Given the description of an element on the screen output the (x, y) to click on. 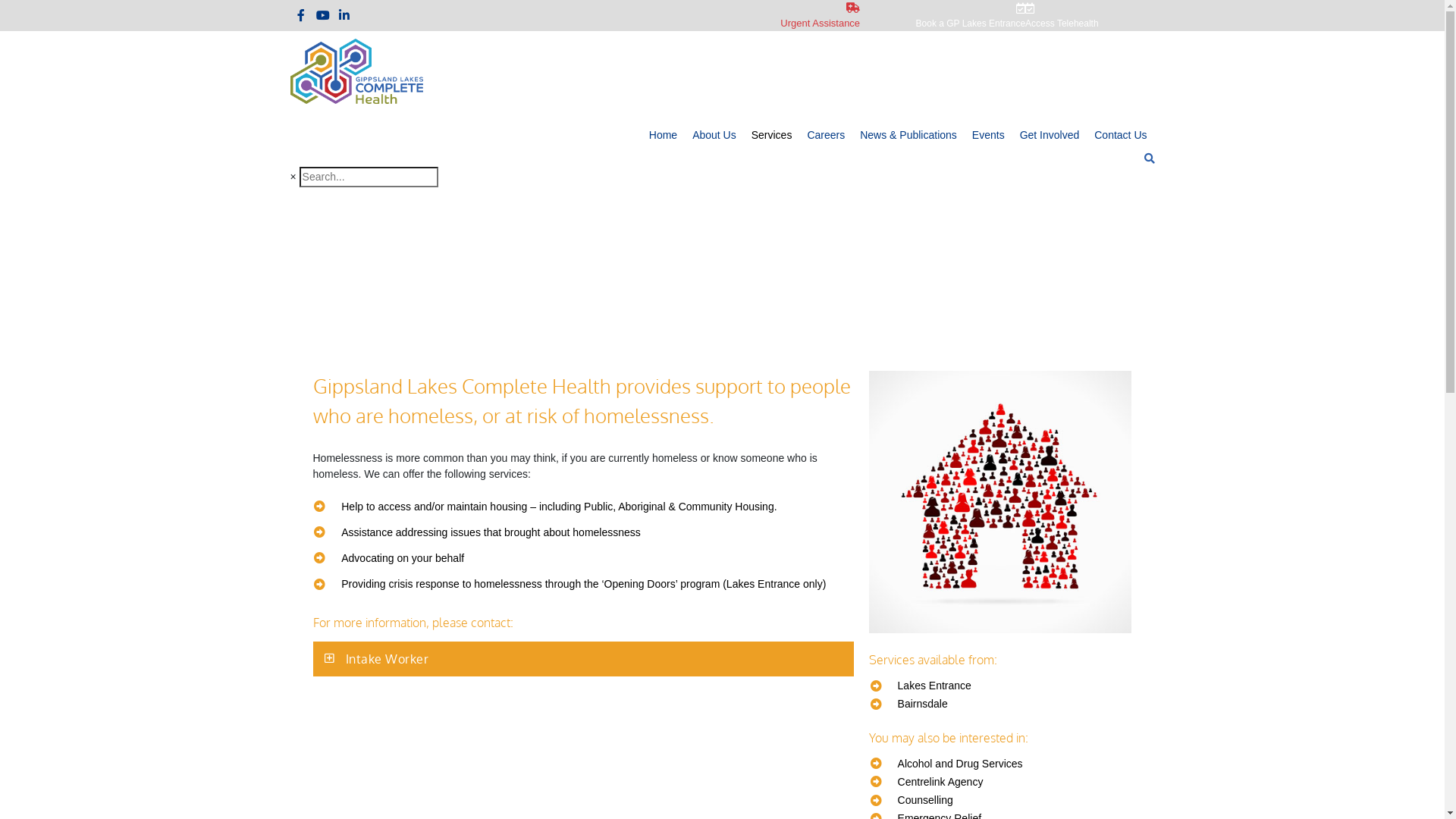
Intake Worker Element type: text (387, 658)
Urgent Assistance Element type: text (721, 15)
Bairnsdale Element type: text (1000, 703)
News & Publications Element type: text (908, 134)
Events Element type: text (988, 134)
Careers Element type: text (825, 134)
Home Element type: text (662, 134)
Access Telehealth Element type: text (1089, 15)
About Us Element type: text (713, 134)
Lakes Entrance Element type: text (1000, 685)
Get Involved Element type: text (1049, 134)
Alcohol and Drug Services Element type: text (1000, 763)
Centrelink Agency Element type: text (1000, 781)
Contact Us Element type: text (1120, 134)
Counselling Element type: text (1000, 799)
Book a GP Lakes Entrance Element type: text (942, 15)
Services Element type: text (771, 134)
